Given the description of an element on the screen output the (x, y) to click on. 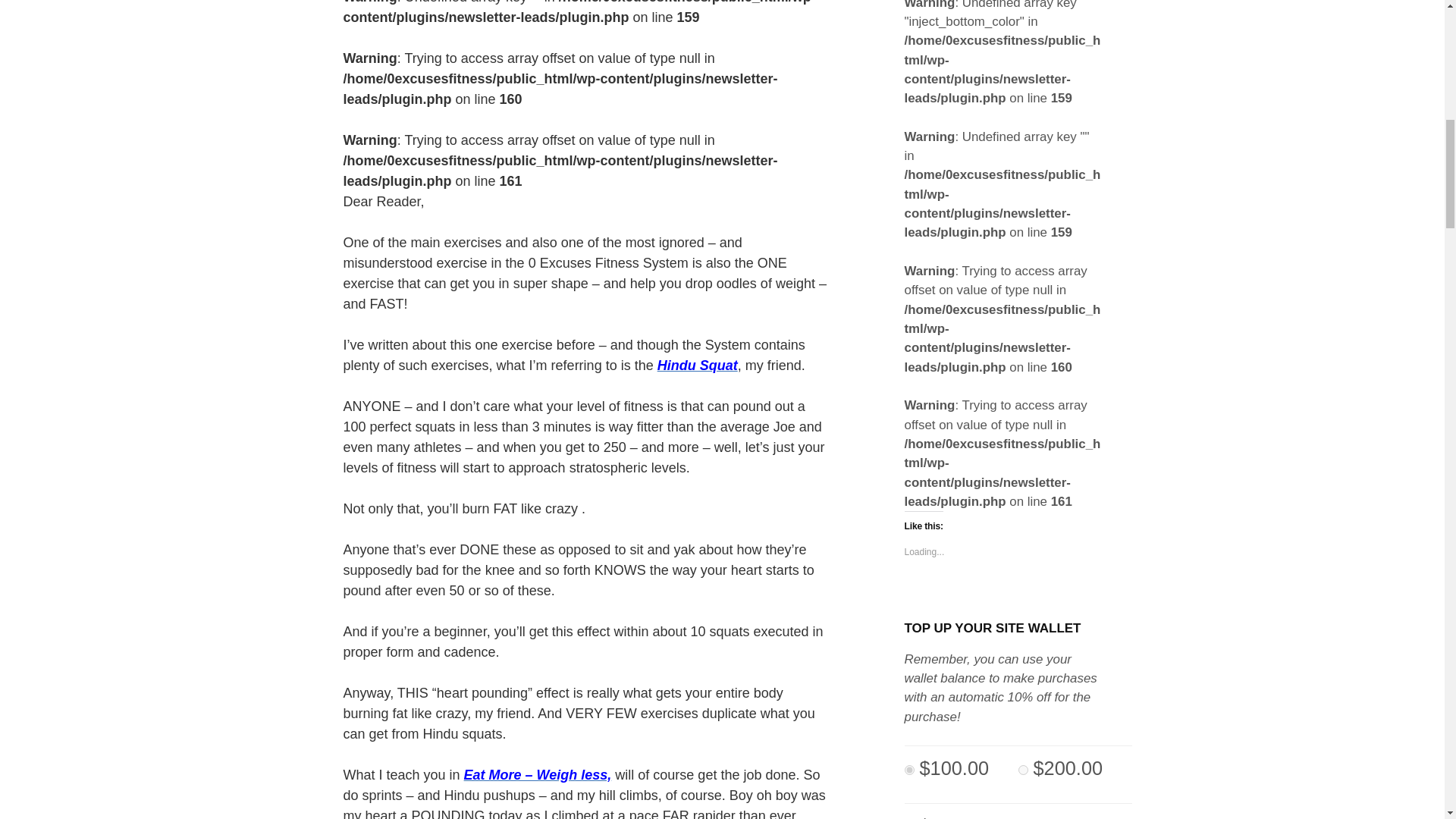
100 (909, 769)
200 (1022, 769)
Hindu Squat (698, 365)
